Given the description of an element on the screen output the (x, y) to click on. 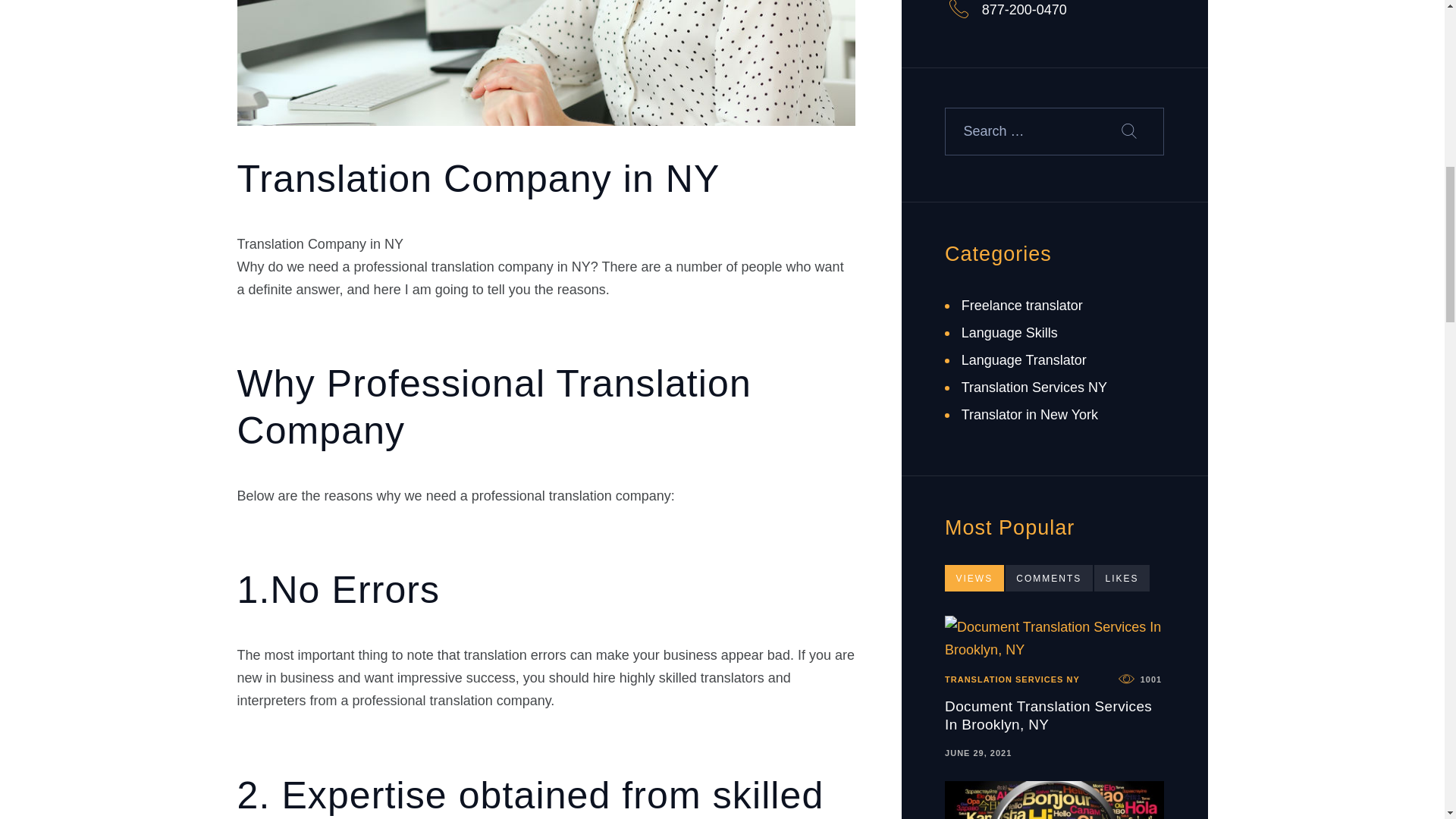
Search (1138, 131)
Search (1138, 131)
View all posts in Translation Services NY (1012, 678)
